Given the description of an element on the screen output the (x, y) to click on. 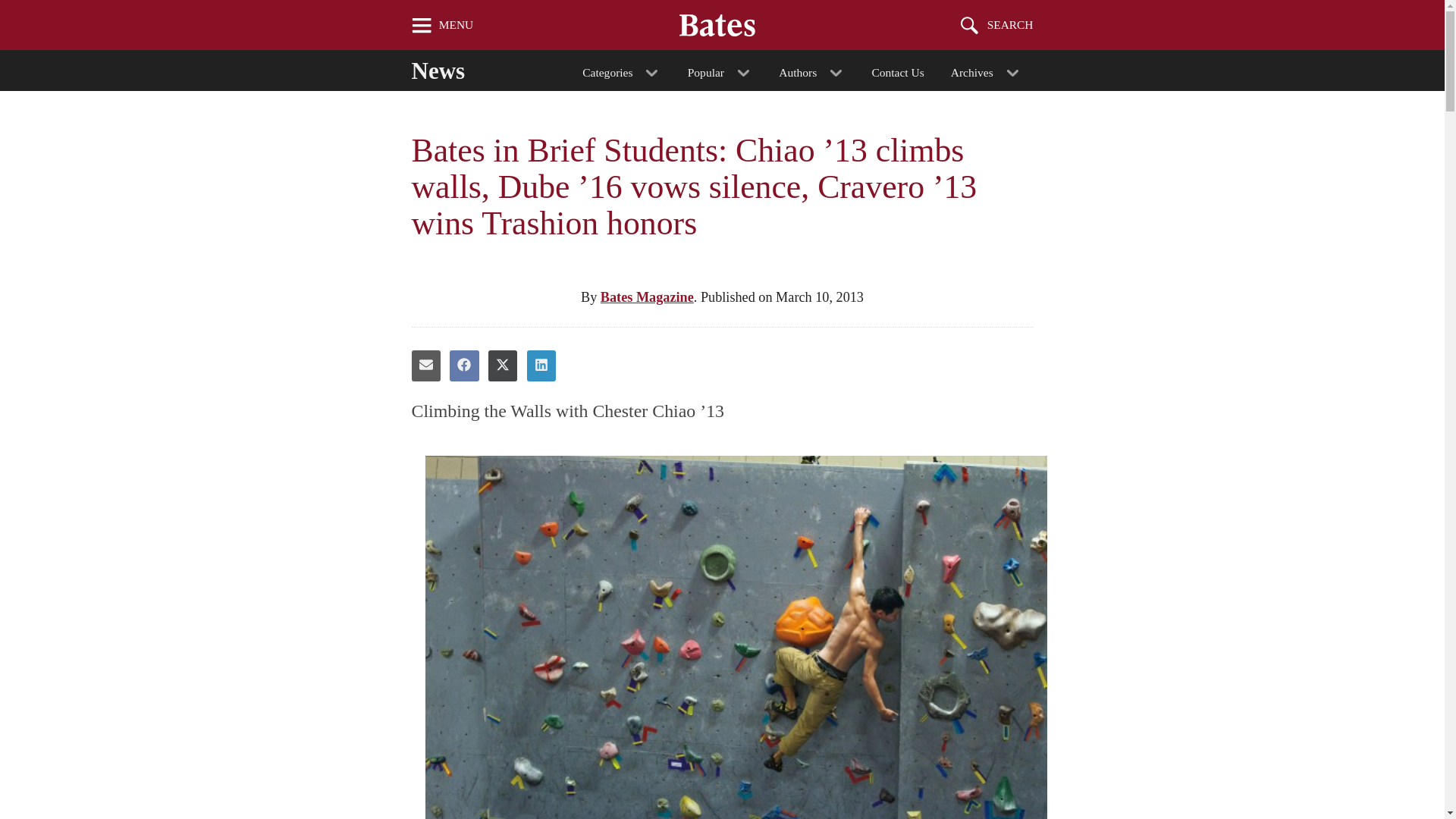
News (452, 66)
Posts by Bates Magazine (646, 296)
MENU (442, 24)
Bates wordmark (717, 24)
SEARCH (996, 24)
Categories (621, 69)
